Given the description of an element on the screen output the (x, y) to click on. 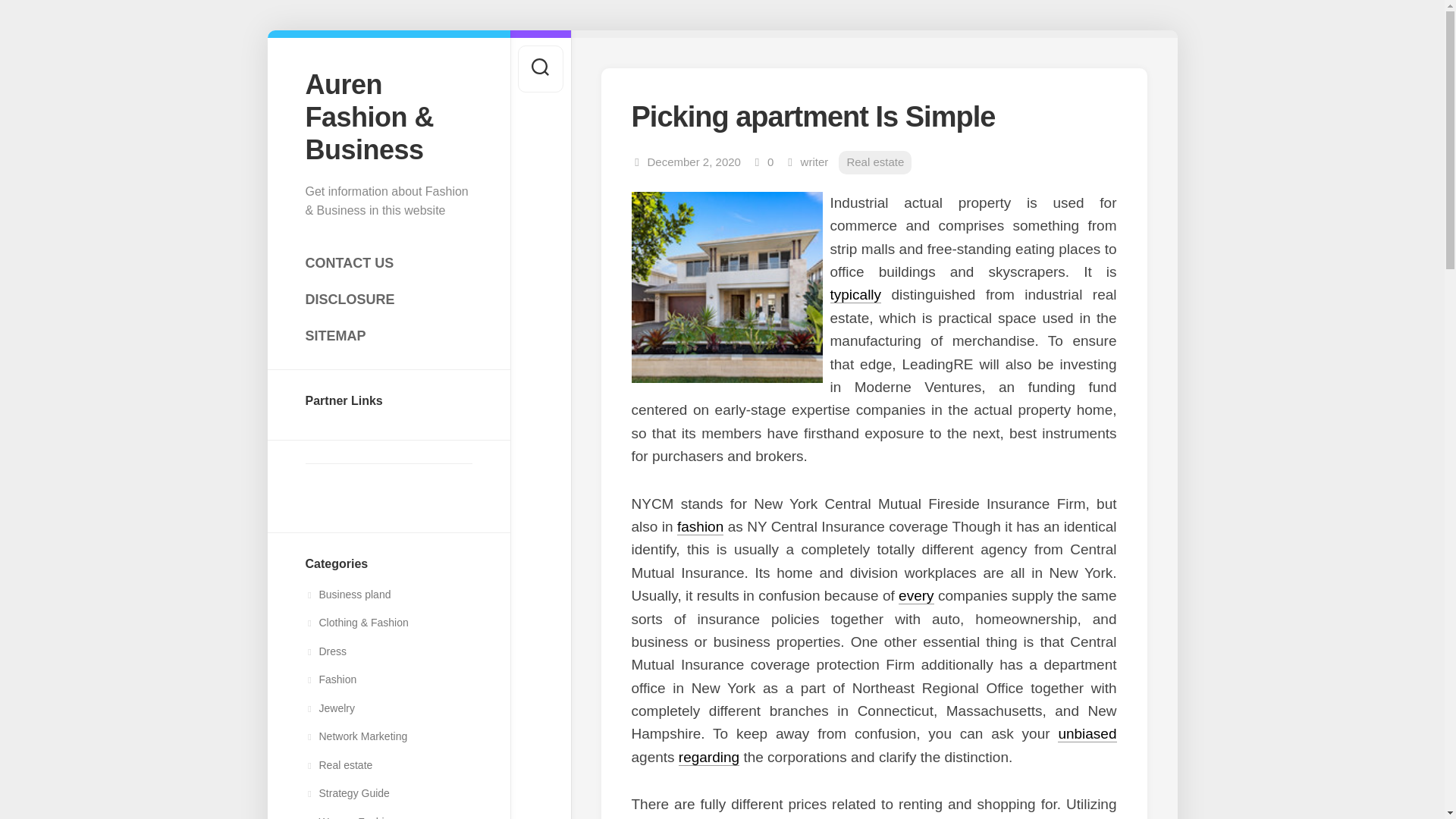
Strategy Guide (346, 793)
Business pland (347, 594)
Dress (325, 651)
Real estate (338, 765)
Fashion (330, 679)
CONTACT US (387, 263)
Network Marketing (355, 736)
SITEMAP (387, 336)
Women Fashion (350, 817)
DISCLOSURE (387, 299)
